Given the description of an element on the screen output the (x, y) to click on. 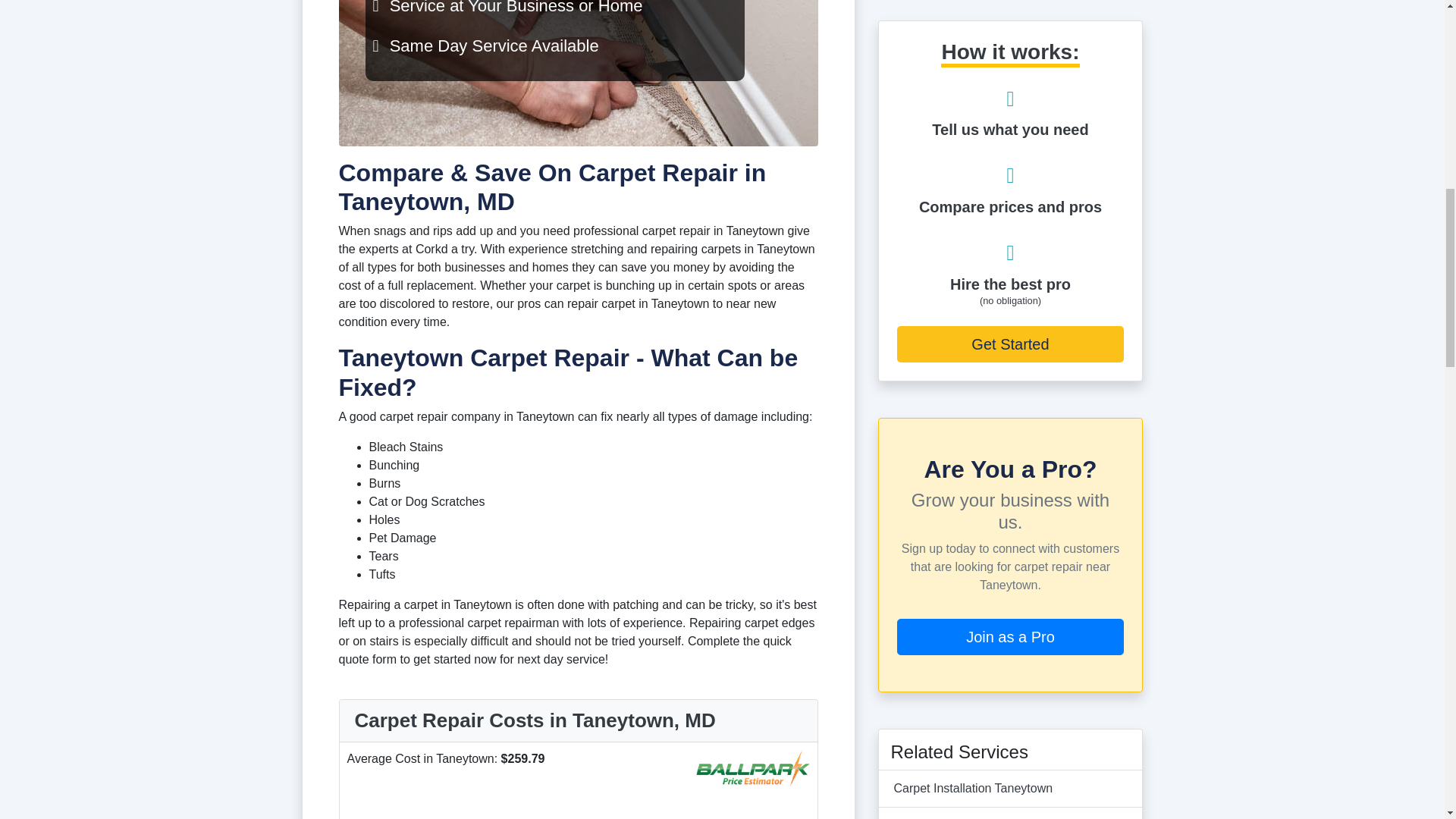
Carpet Installation Taneytown (972, 788)
Get Started (1010, 343)
Join as a Pro (1010, 637)
